Given the description of an element on the screen output the (x, y) to click on. 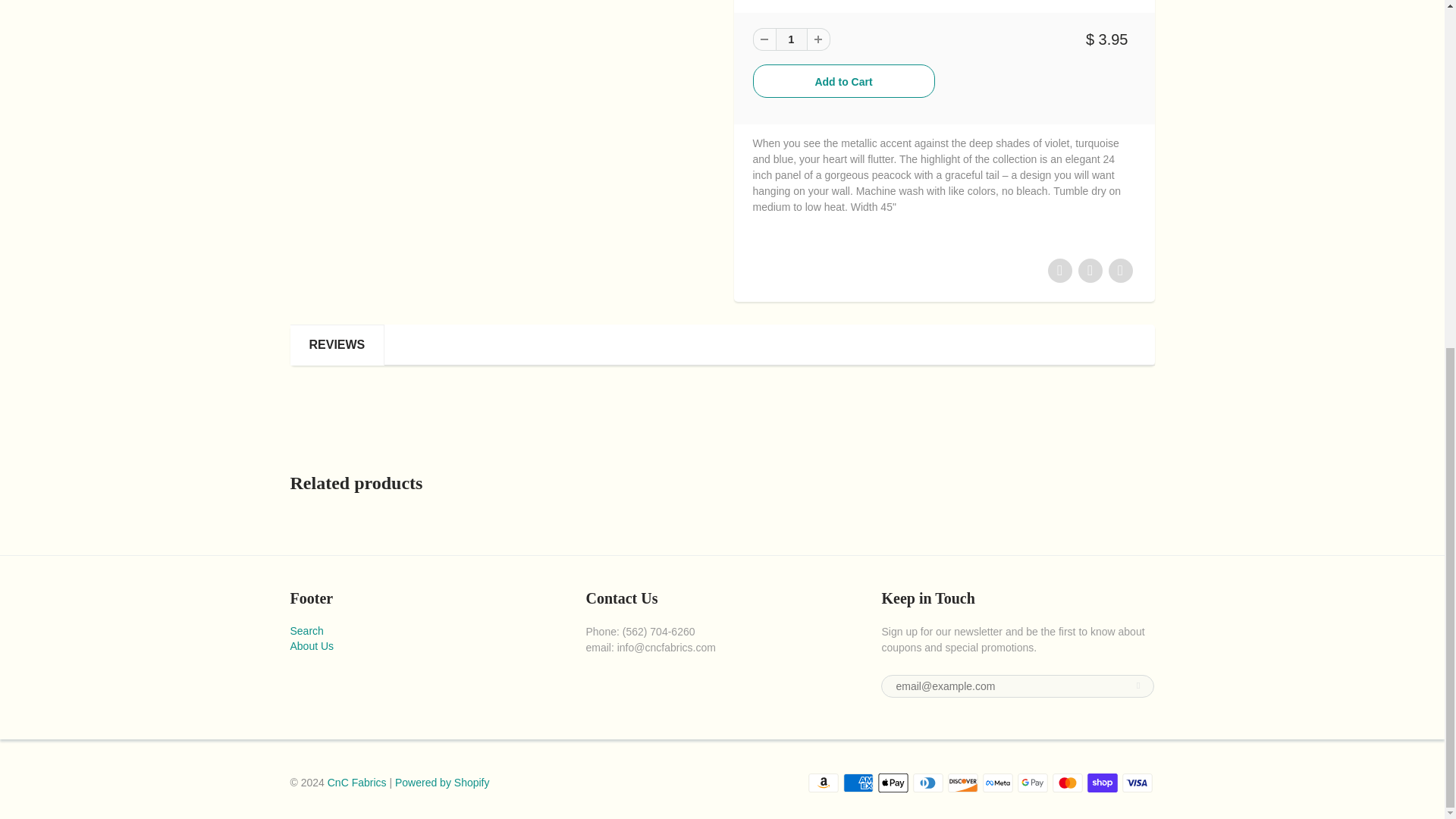
1 (790, 38)
American Express (858, 782)
Add to Cart (843, 80)
Visa (1137, 782)
Meta Pay (997, 782)
Mastercard (1067, 782)
Shop Pay (1102, 782)
Diners Club (927, 782)
Google Pay (1032, 782)
Amazon (823, 782)
Discover (962, 782)
Apple Pay (892, 782)
